Given the description of an element on the screen output the (x, y) to click on. 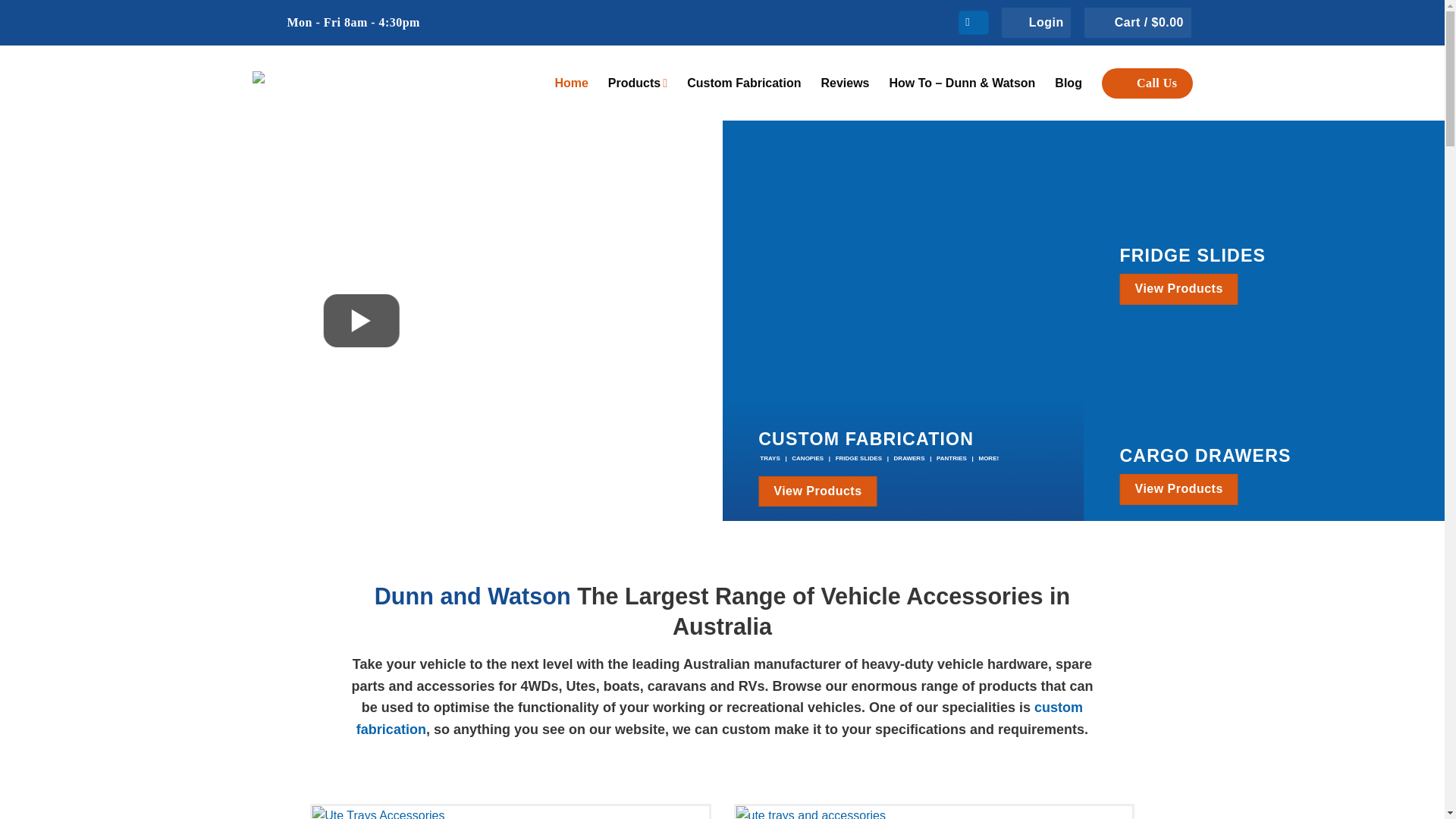
Skip to content Element type: text (0, 0)
Custom Fabrication Element type: text (743, 83)
Login Element type: text (1035, 22)
View Products Element type: text (1178, 488)
Cart / $0.00 Element type: text (1137, 22)
View Products Element type: text (817, 491)
View Products Element type: text (1178, 288)
Home Element type: text (570, 83)
Blog Element type: text (1068, 83)
custom fabrication Element type: text (719, 718)
Call Us Element type: text (1146, 83)
Reviews Element type: text (844, 83)
Mon - Fri 8am - 4:30pm Element type: text (342, 22)
Products Element type: text (637, 82)
Dunn & Watson Element type: hover (342, 82)
